Given the description of an element on the screen output the (x, y) to click on. 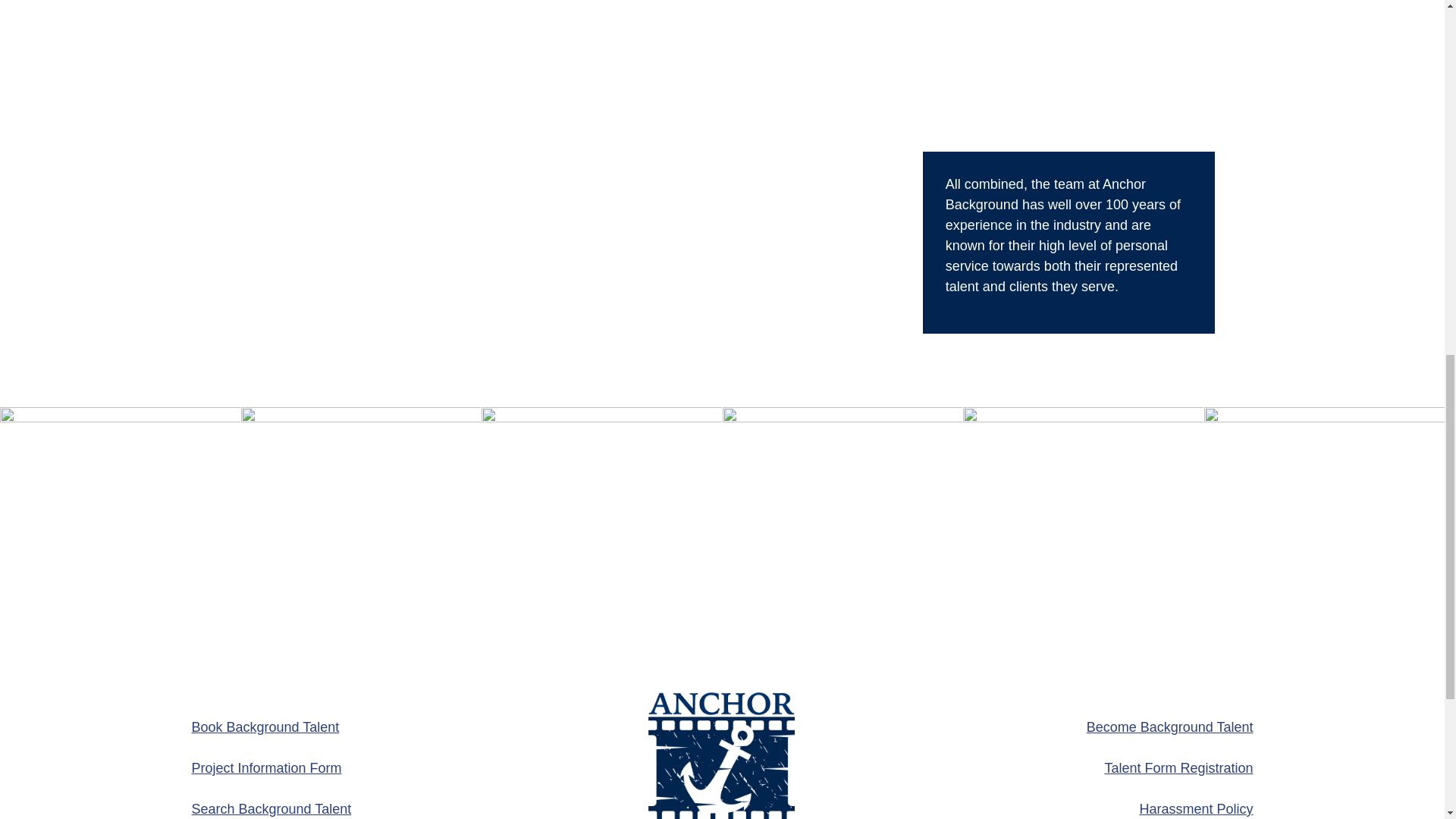
Search Background Talent (270, 808)
extras-background (120, 527)
anchorbackgroundlogojpg (721, 755)
Book Background Talent (264, 726)
Book Background Talent (264, 726)
Project Information Form (265, 767)
background-talent-movie-extras (361, 527)
movie-extras-2 (1083, 527)
Harassment Policy (1195, 808)
Talent Form Registration (1177, 767)
background-talent-extras (601, 527)
Become Background Talent (1169, 726)
movie-extras (842, 527)
Search Background Talent (270, 808)
Project Information Form (265, 767)
